Given the description of an element on the screen output the (x, y) to click on. 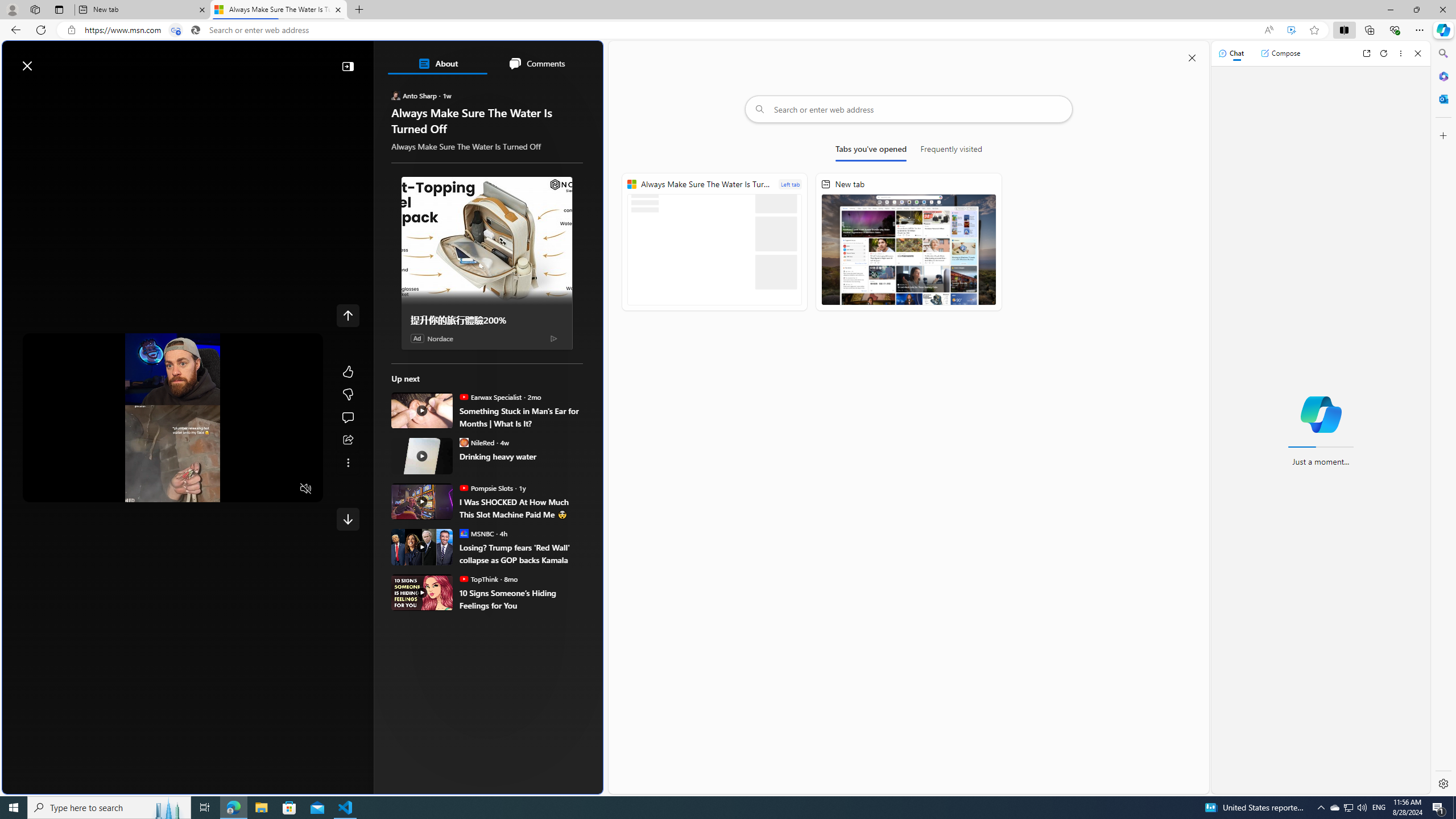
Fullscreen (284, 488)
Captions (261, 488)
Search or enter web address (909, 108)
Frequently visited (951, 151)
ABC News (432, 415)
NileRed (464, 442)
Enhance video (1291, 29)
Unmute (305, 488)
Skip to content (49, 59)
